Given the description of an element on the screen output the (x, y) to click on. 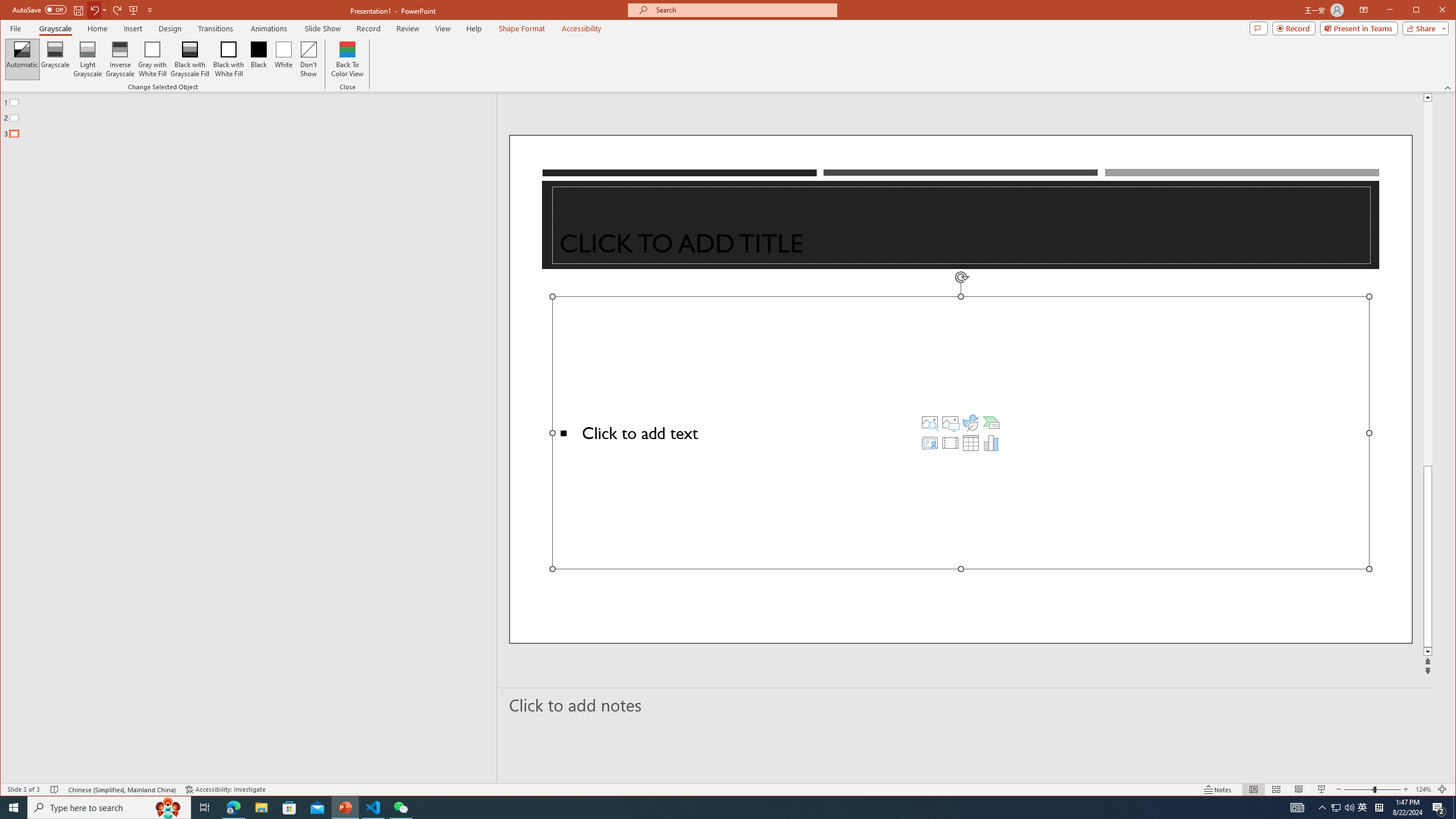
Insert an Icon (970, 422)
Zoom 124% (1422, 789)
Insert Cameo (929, 443)
Don't Show (308, 59)
